Given the description of an element on the screen output the (x, y) to click on. 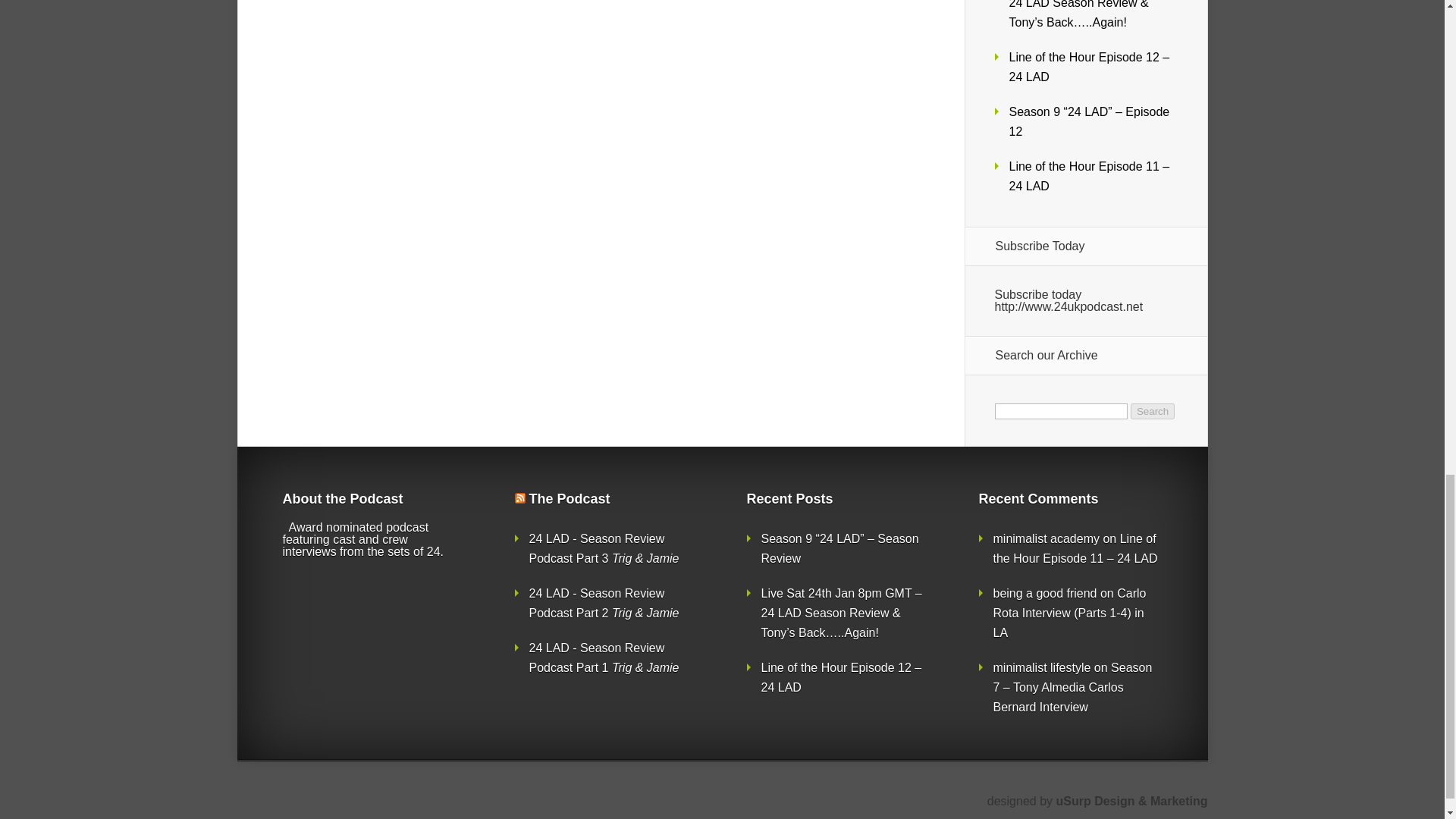
Professional Web Design (1131, 800)
Search (1152, 411)
